Given the description of an element on the screen output the (x, y) to click on. 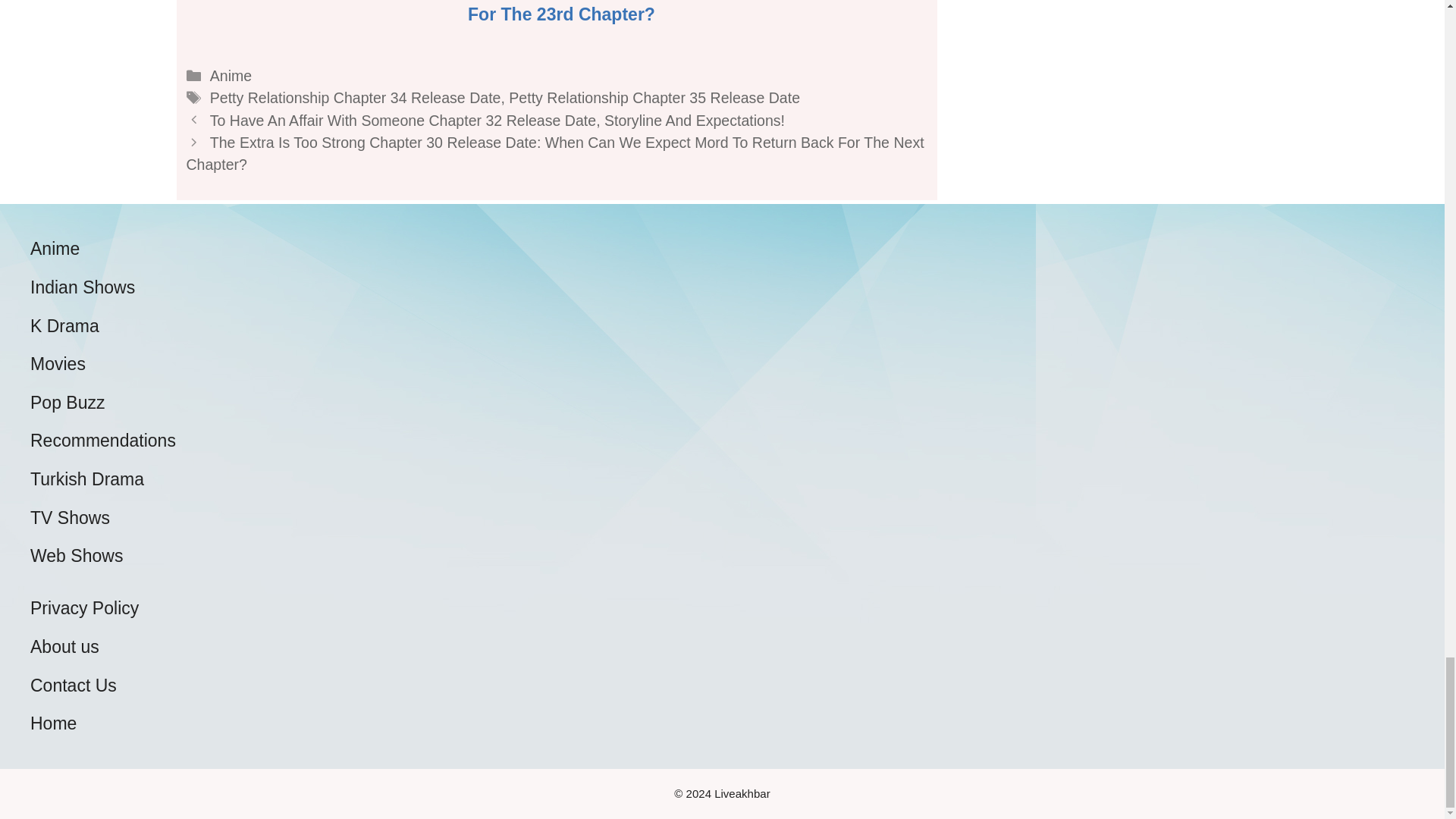
Petty Relationship Chapter 35 Release Date (653, 97)
Petty Relationship Chapter 34 Release Date (354, 97)
Anime (230, 75)
